Given the description of an element on the screen output the (x, y) to click on. 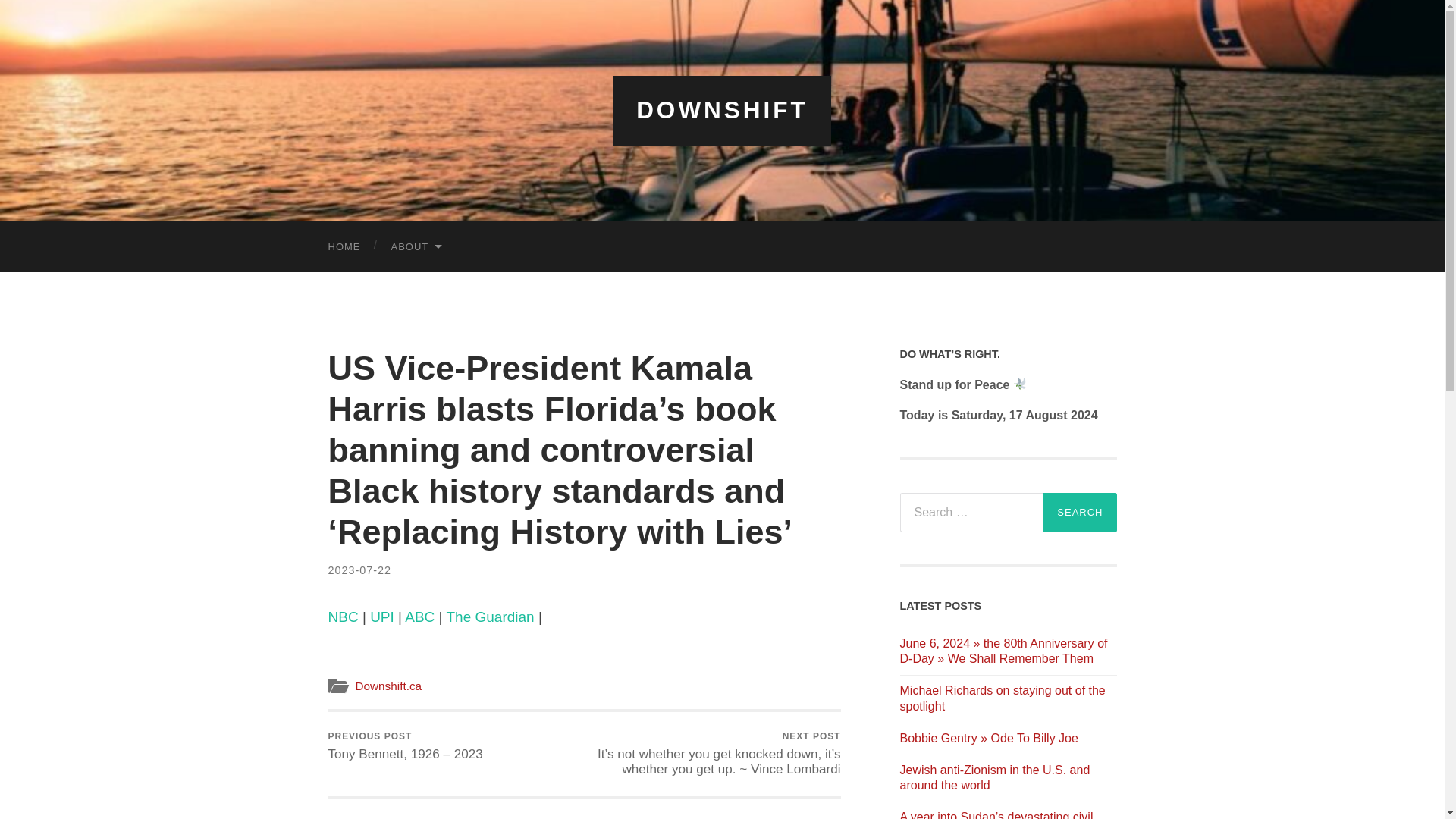
Search (1079, 512)
Michael Richards on staying out of the spotlight (1007, 698)
2023-07-22 (359, 570)
DOWNSHIFT (722, 109)
UPI (381, 616)
Search (1079, 512)
ABOUT (415, 246)
NBC (342, 616)
The Guardian (489, 616)
ABC (418, 616)
